Given the description of an element on the screen output the (x, y) to click on. 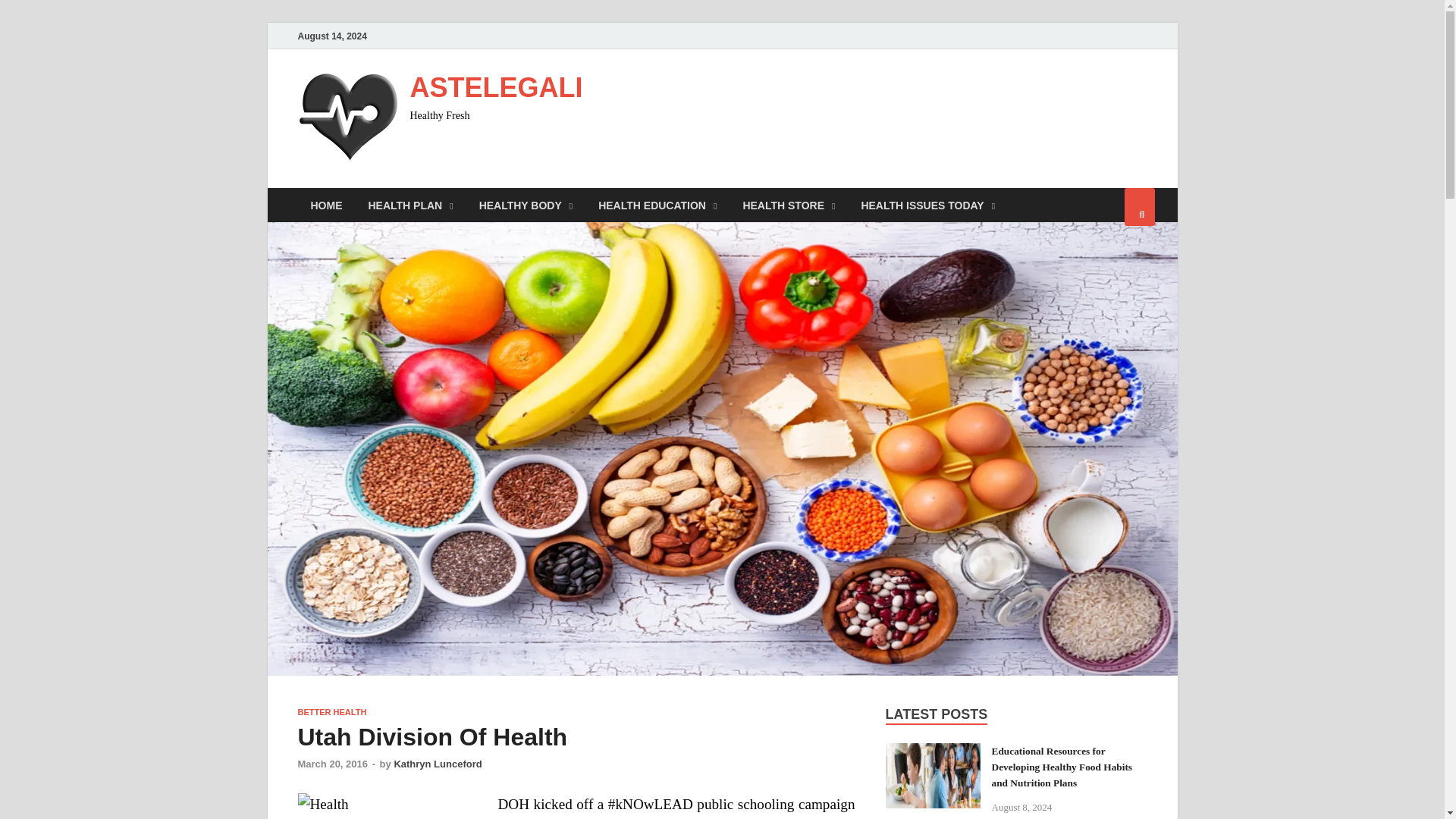
HOME (326, 204)
HEALTHY BODY (525, 204)
HEALTH ISSUES TODAY (927, 204)
HEALTH EDUCATION (657, 204)
HEALTH STORE (788, 204)
ASTELEGALI (495, 87)
HEALTH PLAN (410, 204)
